Given the description of an element on the screen output the (x, y) to click on. 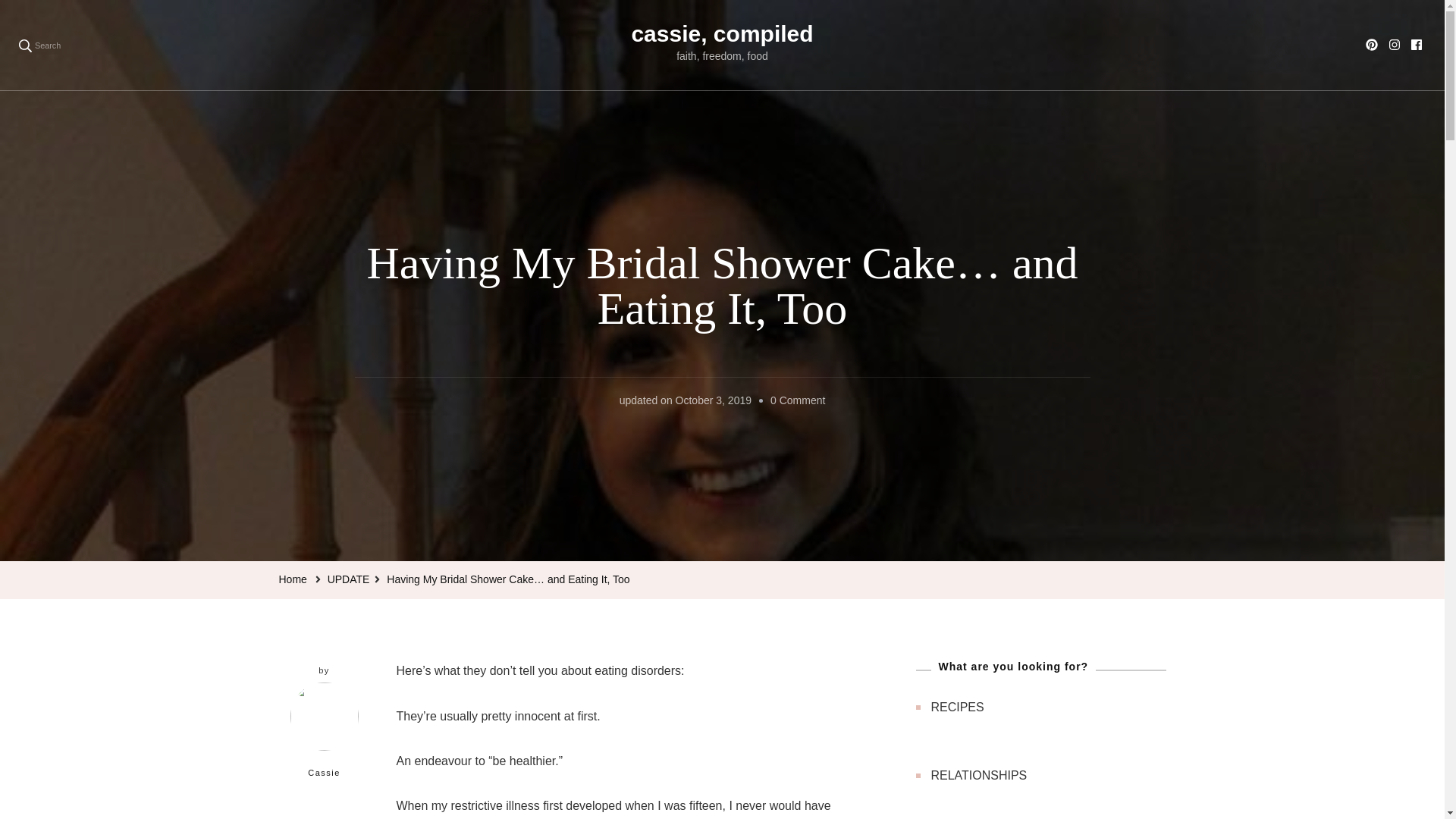
UPDATE (348, 579)
Home (293, 579)
October 3, 2019 (713, 400)
cassie, compiled (721, 33)
Search (39, 44)
